Given the description of an element on the screen output the (x, y) to click on. 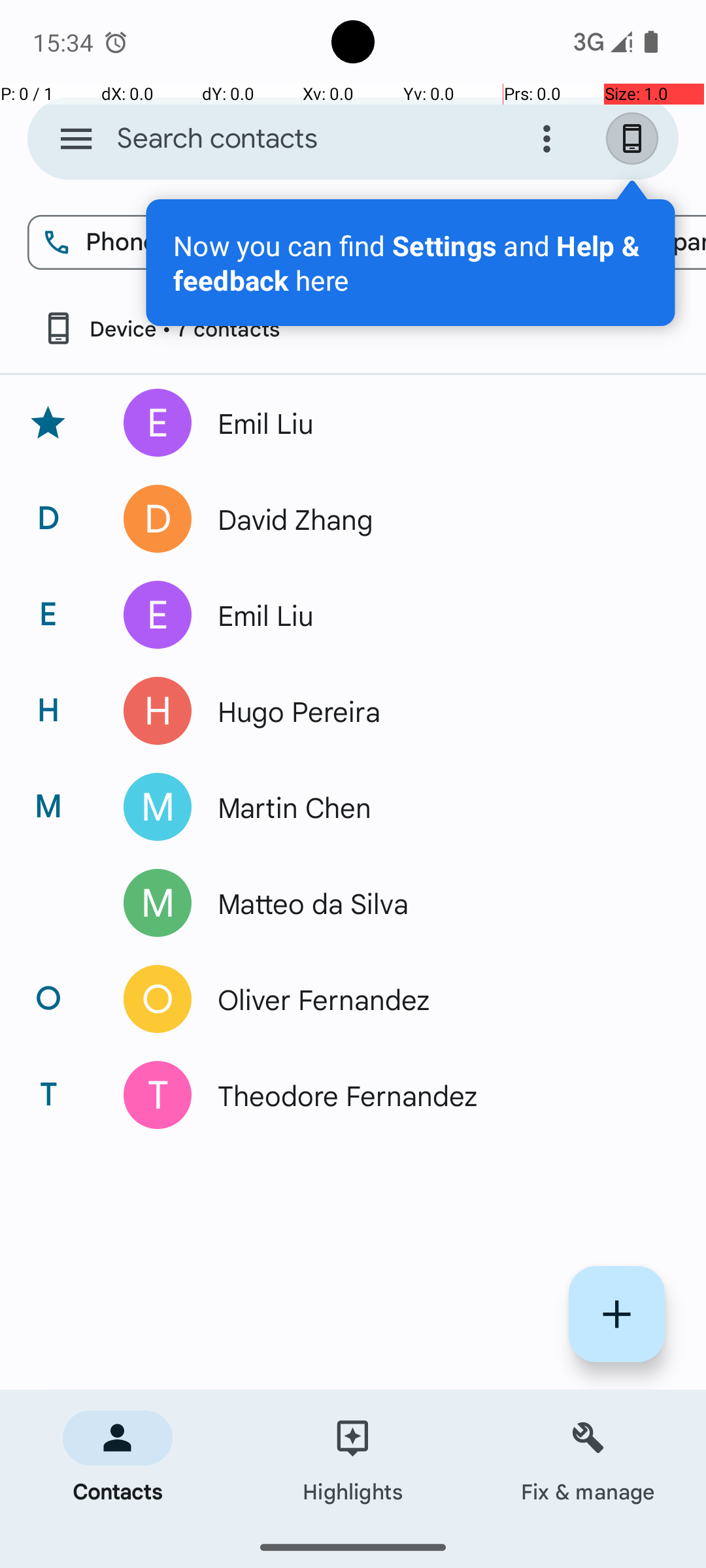
Device • 7 contacts Element type: android.widget.TextView (160, 328)
Emil Liu Element type: android.widget.TextView (434, 422)
David Zhang Element type: android.widget.TextView (434, 518)
Hugo Pereira Element type: android.widget.TextView (434, 710)
Martin Chen Element type: android.widget.TextView (434, 806)
Matteo da Silva Element type: android.widget.TextView (434, 902)
Oliver Fernandez Element type: android.widget.TextView (434, 998)
Theodore Fernandez Element type: android.widget.TextView (434, 1094)
